Given the description of an element on the screen output the (x, y) to click on. 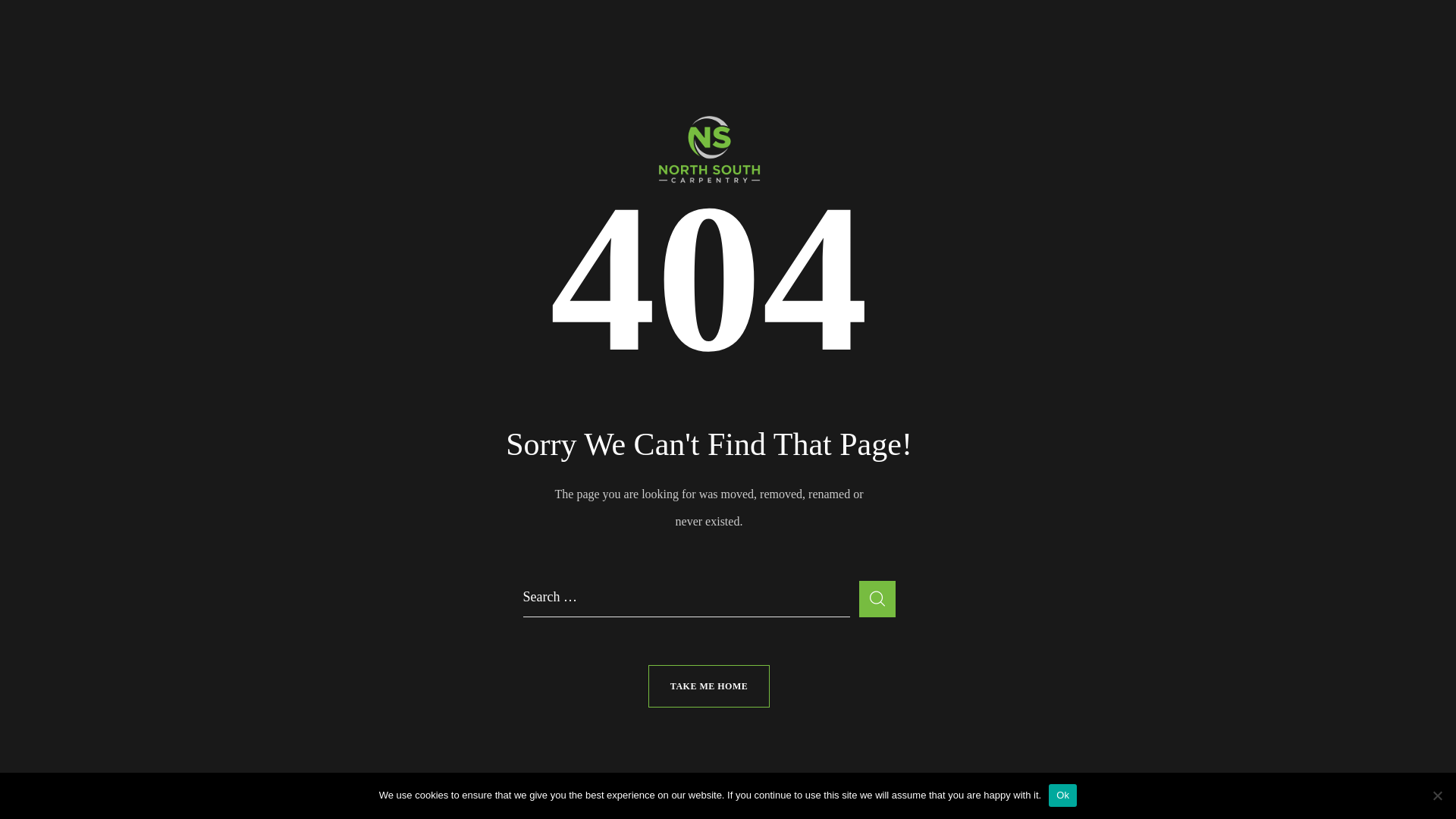
Search Element type: text (876, 598)
No Element type: hover (1436, 795)
TAKE ME HOME Element type: text (708, 686)
Ok Element type: text (1062, 795)
